Given the description of an element on the screen output the (x, y) to click on. 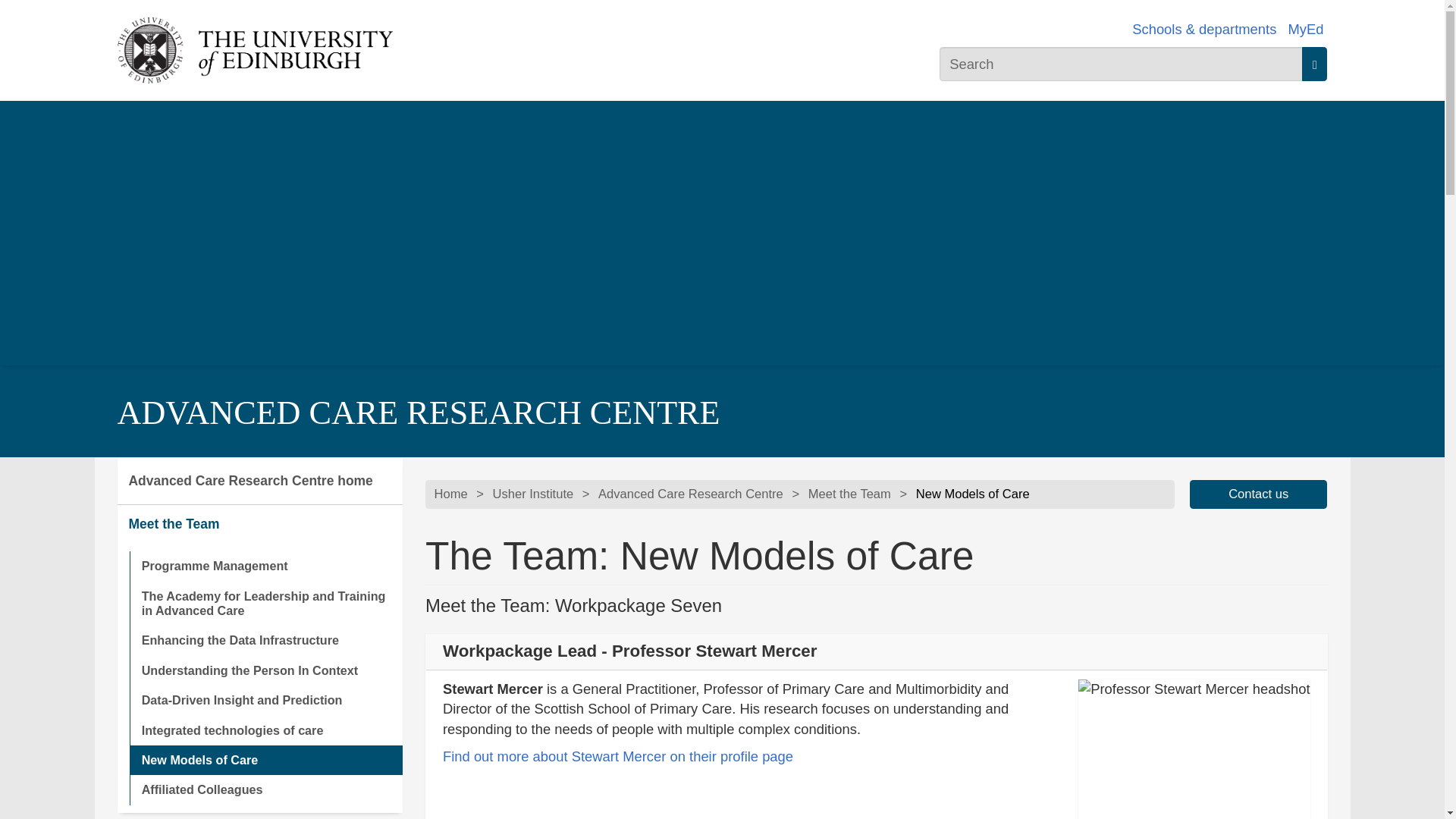
Find out more about Stewart Mercer on their profile page (617, 756)
Advanced Care Research Centre home (259, 481)
Home (450, 494)
Enhancing the Data Infrastructure (266, 640)
Data-Driven Insight and Prediction (266, 699)
Meet the Team (259, 524)
MyEd (1305, 28)
Integrated technologies of care (266, 730)
Understanding the Person In Context (266, 670)
Affiliated Colleagues (266, 789)
Advanced Care Research Centre (690, 494)
Meet the Team (849, 494)
Usher Institute (533, 494)
Programme Management (266, 565)
Stewart Mercer (617, 756)
